Given the description of an element on the screen output the (x, y) to click on. 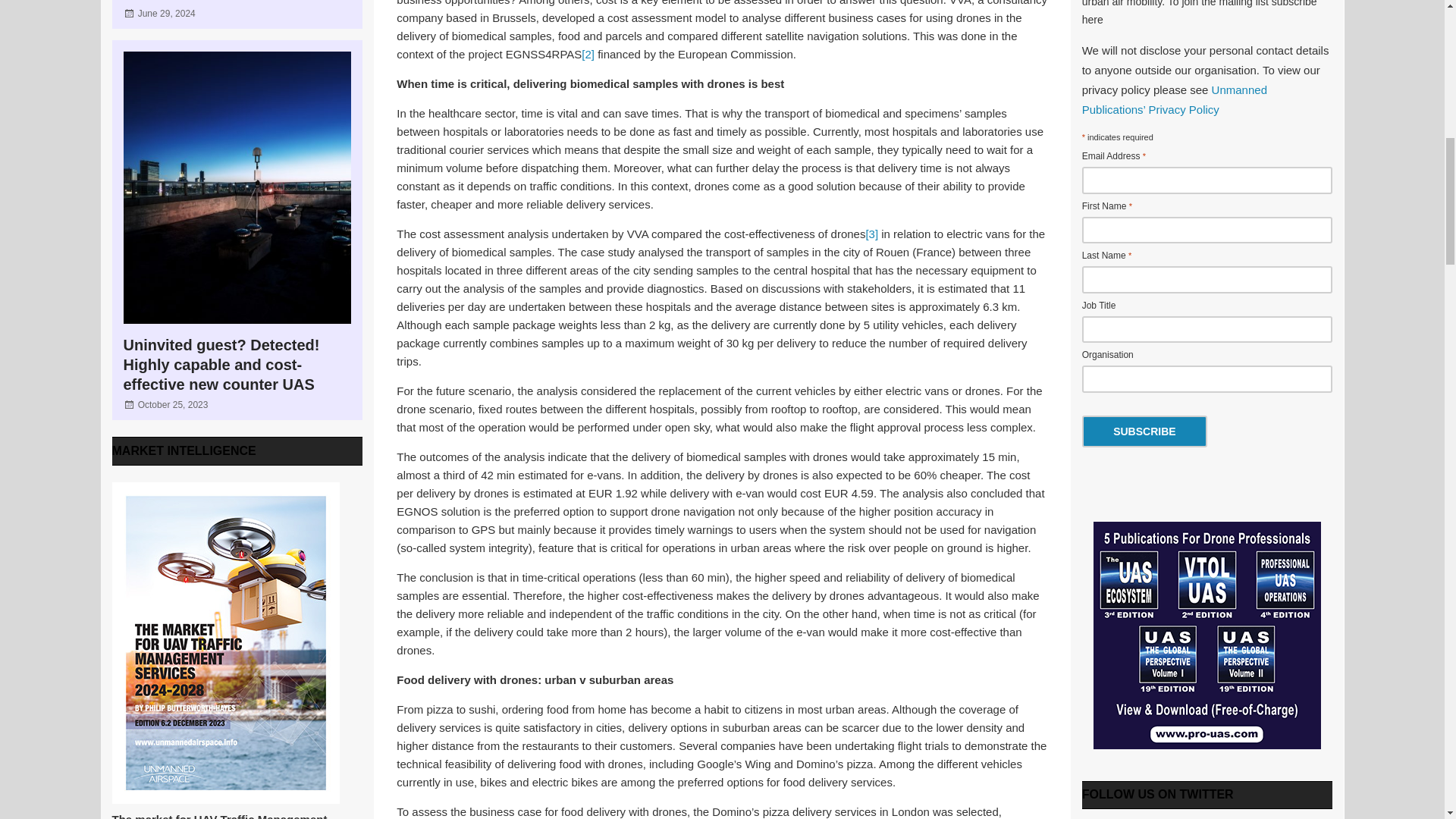
9:33 am (173, 404)
11:31 am (166, 13)
Subscribe (1144, 431)
